Given the description of an element on the screen output the (x, y) to click on. 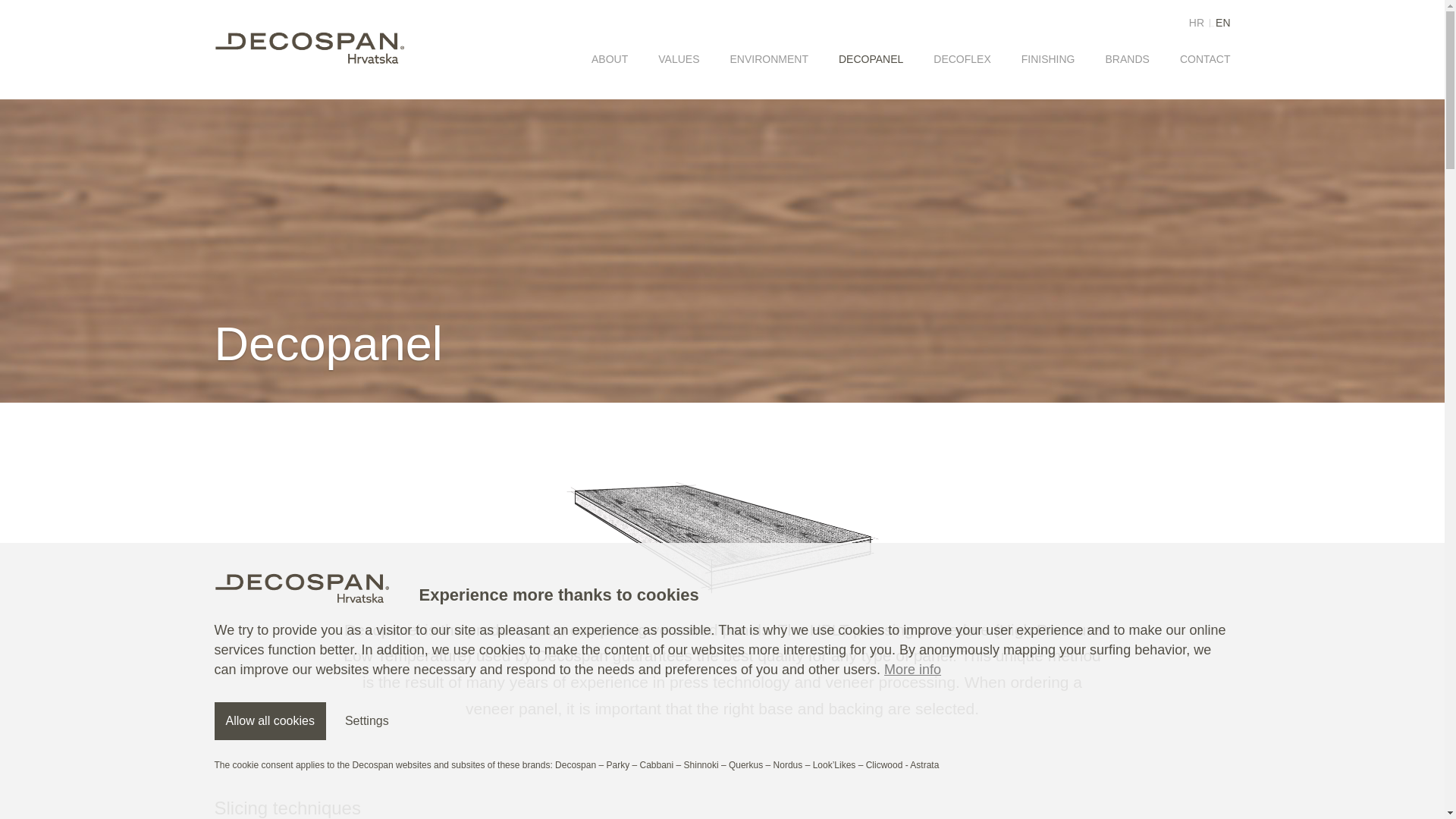
Home (308, 50)
Finishing (1048, 58)
EN (1222, 22)
Contact (1204, 58)
ENVIRONMENT (768, 58)
ABOUT (609, 58)
DECOFLEX (961, 58)
Values (678, 58)
BRANDS (1127, 58)
VALUES (678, 58)
Environment (768, 58)
Decopanel (870, 58)
Brands (1127, 58)
HR (1196, 22)
About (609, 58)
